Given the description of an element on the screen output the (x, y) to click on. 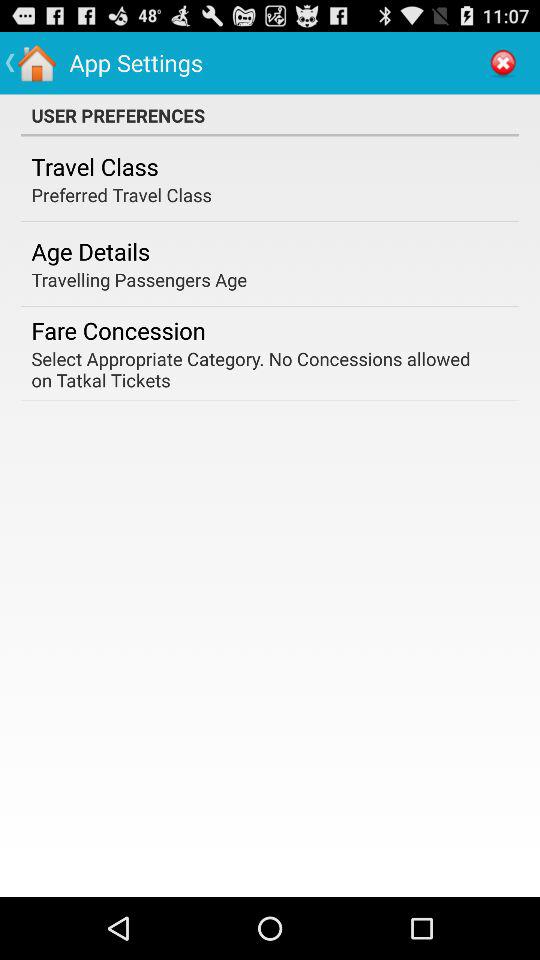
press the item at the top (270, 115)
